Given the description of an element on the screen output the (x, y) to click on. 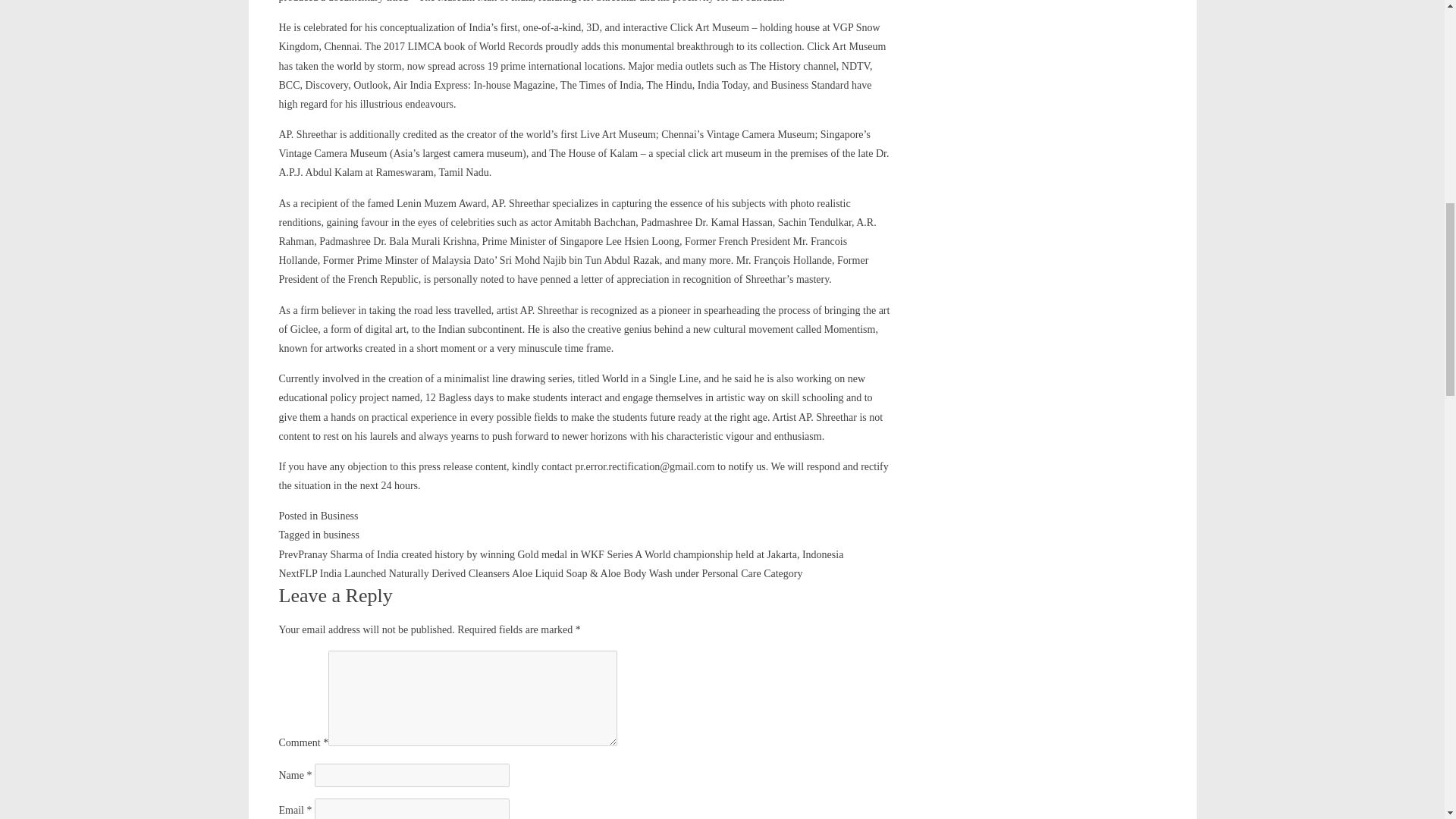
business (340, 534)
Business (339, 515)
